Given the description of an element on the screen output the (x, y) to click on. 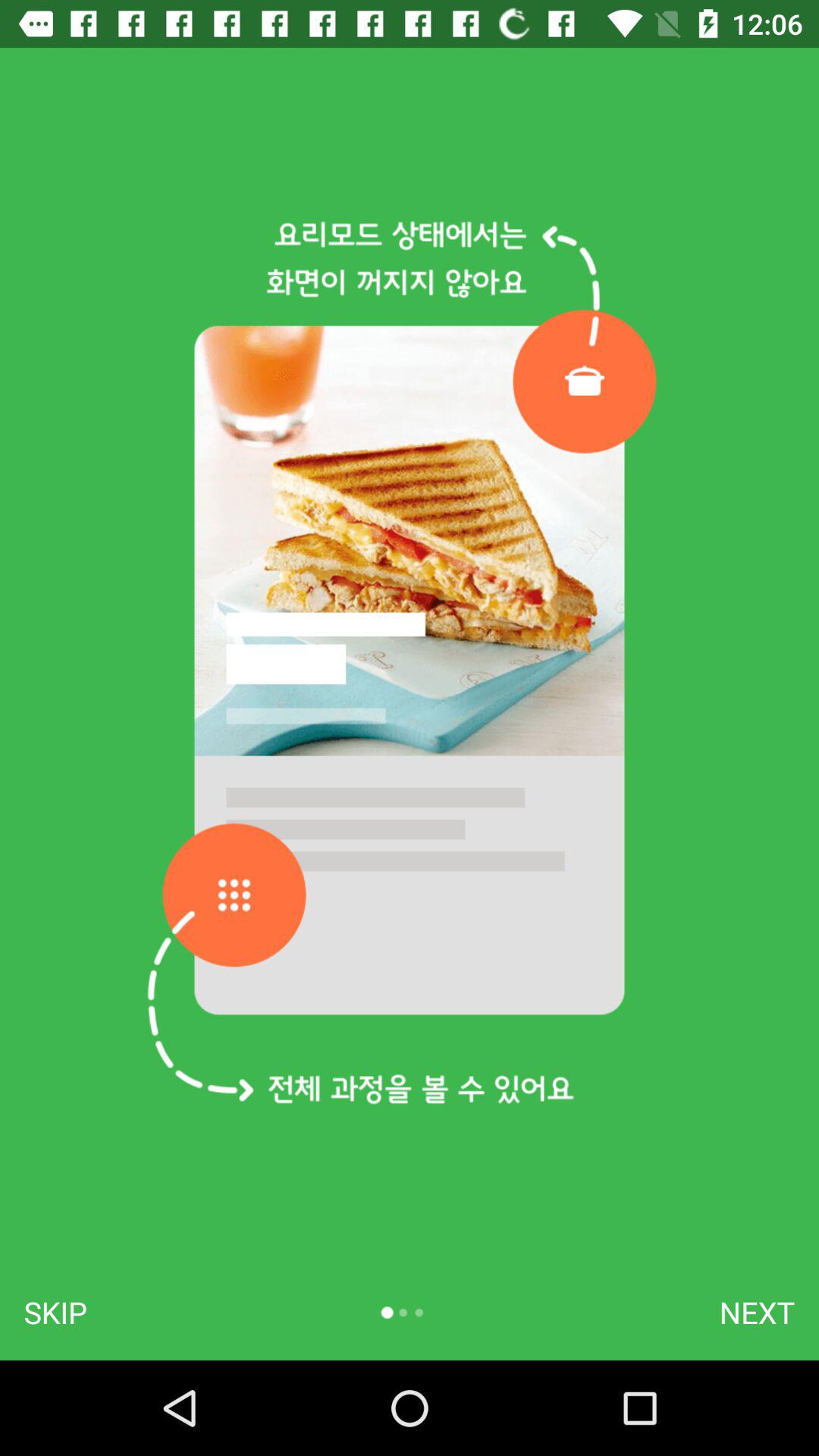
launch the icon at the bottom right corner (757, 1312)
